Given the description of an element on the screen output the (x, y) to click on. 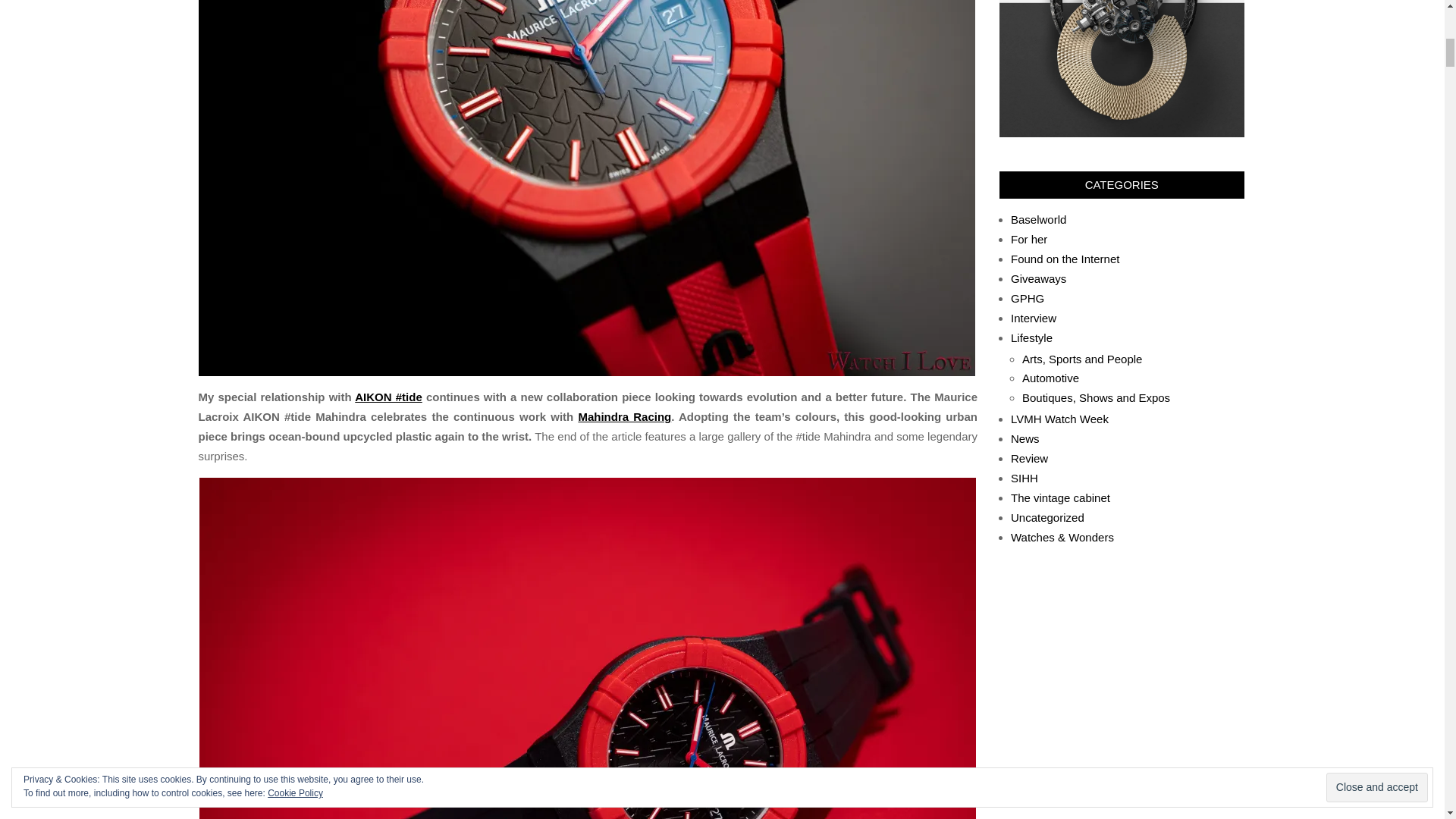
Mahindra Racing (624, 416)
